Given the description of an element on the screen output the (x, y) to click on. 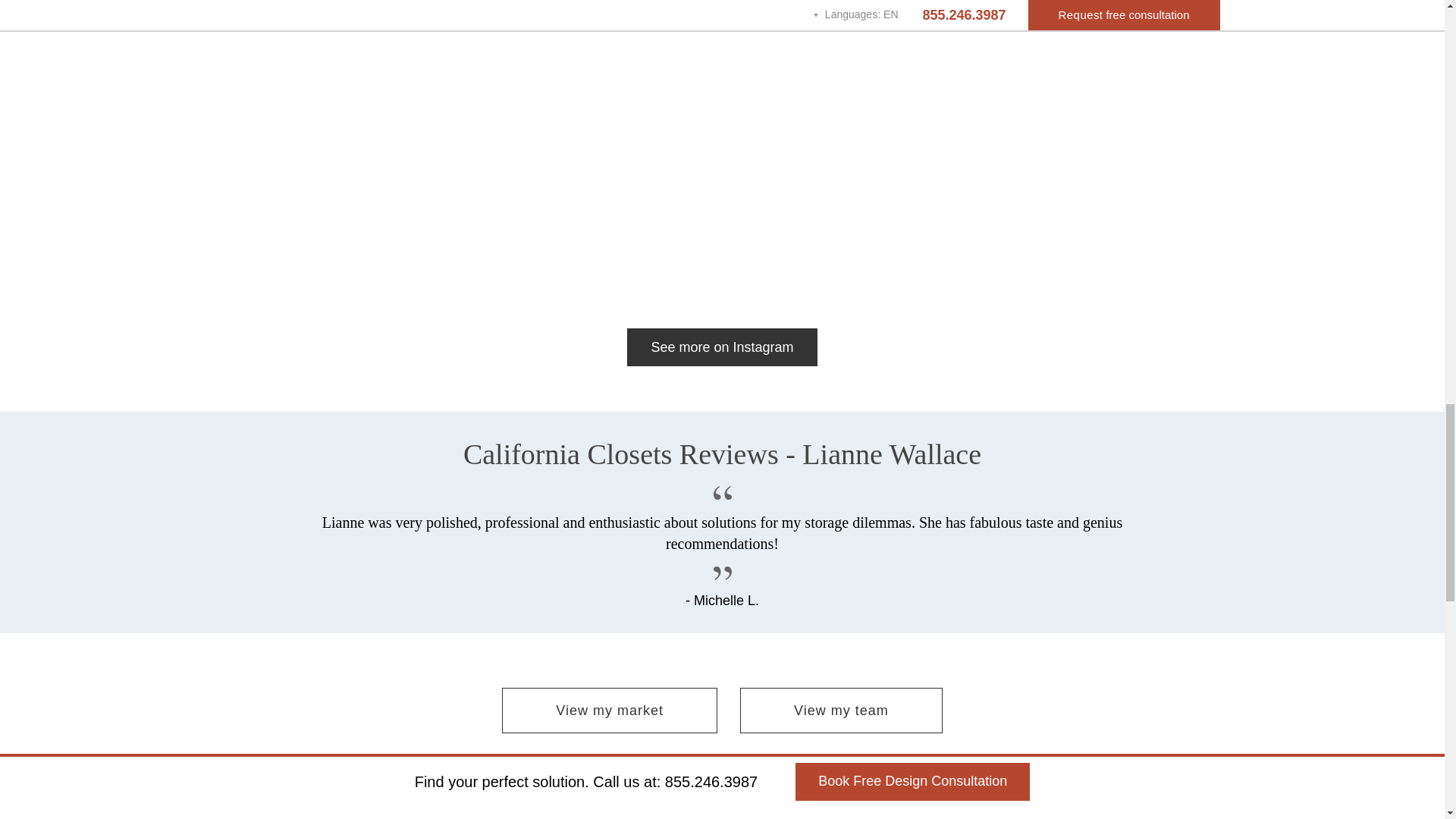
Modern Home Office (386, 152)
